Given the description of an element on the screen output the (x, y) to click on. 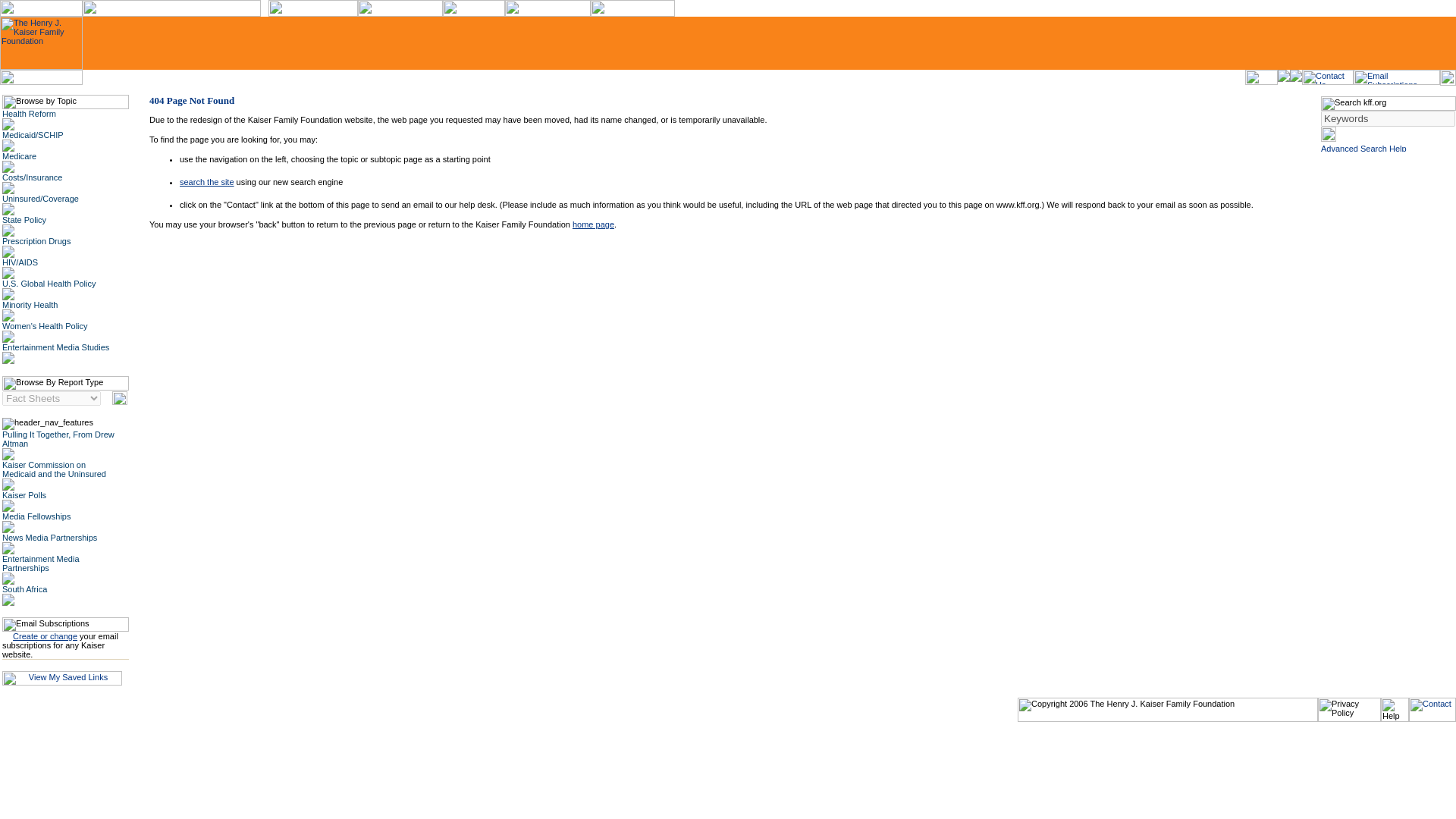
State Policy (24, 219)
News Media Partnerships (49, 537)
South Africa (24, 588)
View My Saved Links (62, 677)
Minority Health (30, 304)
Kaiser Commission on Medicaid and the Uninsured (54, 469)
Women's Health Policy (44, 325)
home page (593, 224)
Create or change (45, 635)
search the site (206, 181)
U.S. Global Health Policy (49, 283)
Pulling It Together, From Drew Altman (58, 438)
Entertainment Media Studies (55, 347)
Keywords (1387, 118)
Entertainment Media Partnerships (41, 563)
